Given the description of an element on the screen output the (x, y) to click on. 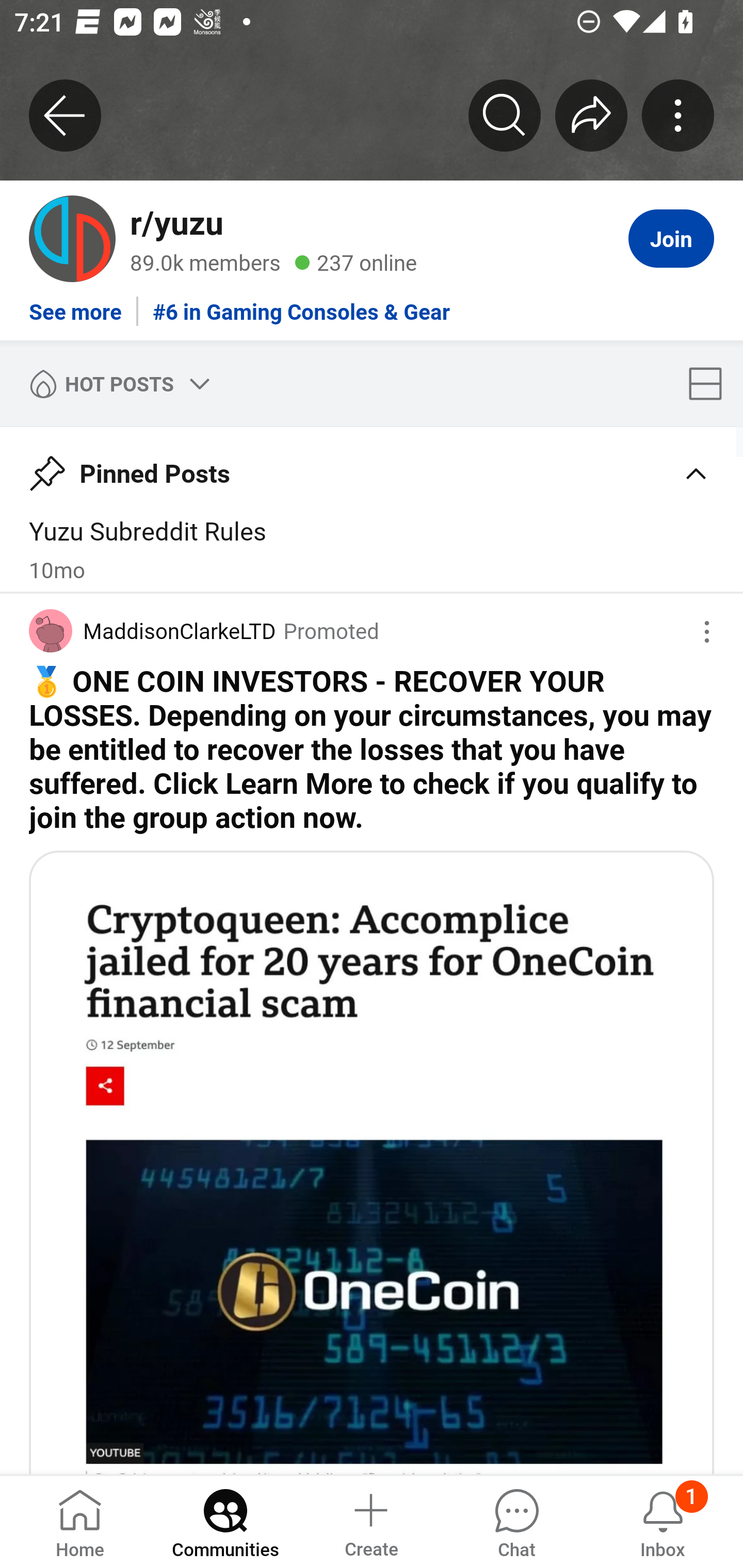
Back (64, 115)
Search r/﻿yuzu (504, 115)
Share r/﻿yuzu (591, 115)
More community actions (677, 115)
See more (74, 304)
#6 in Gaming Consoles & Gear (301, 304)
HOT POSTS Sort by Hot posts (115, 383)
Card display (711, 383)
Pin Pinned Posts Caret (371, 466)
Yuzu Subreddit Rules 10mo (371, 548)
Author MaddisonClarkeLTD (152, 630)
Image (371, 1161)
Home (80, 1520)
Communities (225, 1520)
Create a post Create (370, 1520)
Chat (516, 1520)
Inbox, has 1 notification 1 Inbox (662, 1520)
